Given the description of an element on the screen output the (x, y) to click on. 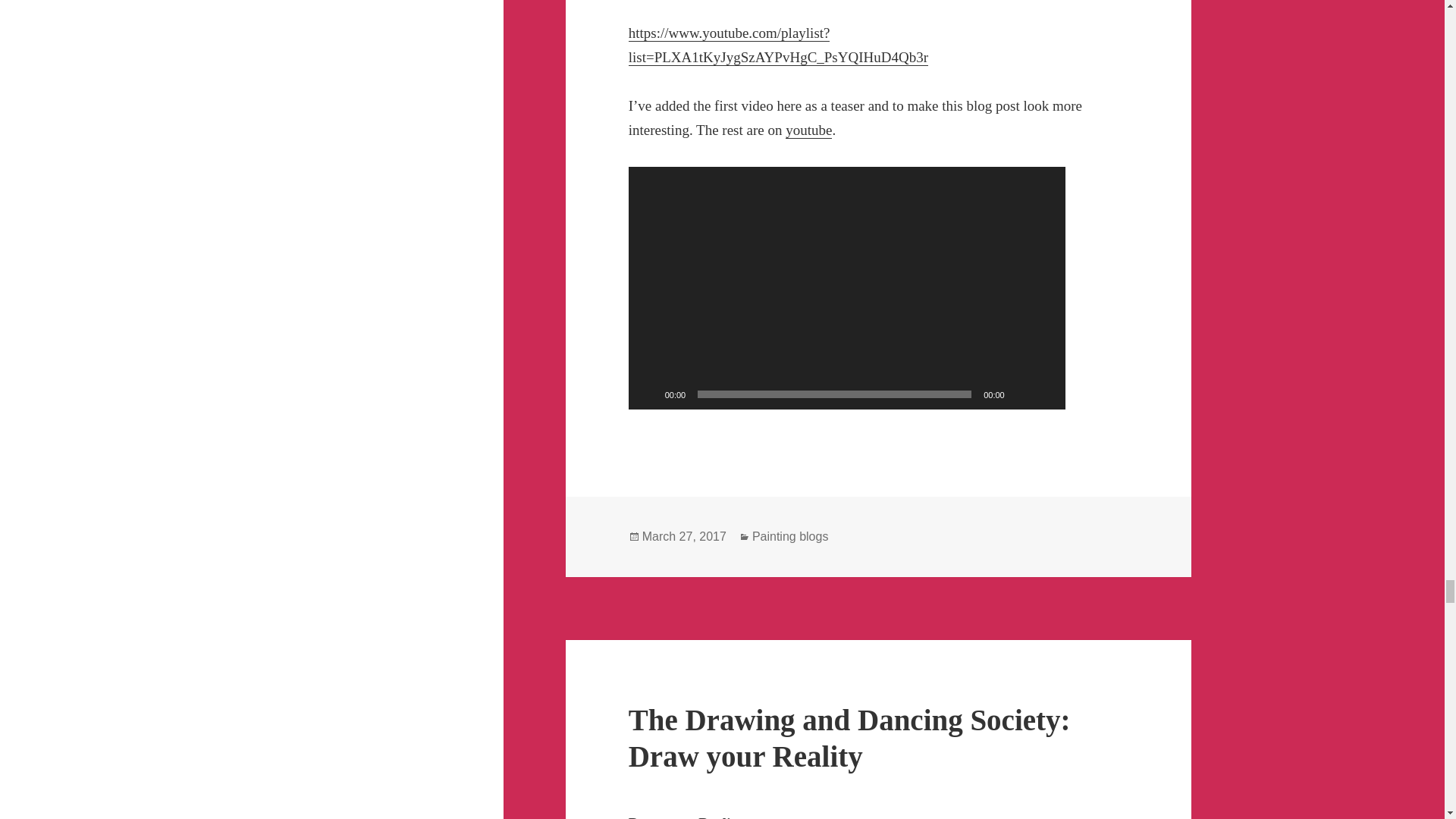
Fullscreen (1045, 394)
Play (648, 394)
Mute (1021, 394)
